Given the description of an element on the screen output the (x, y) to click on. 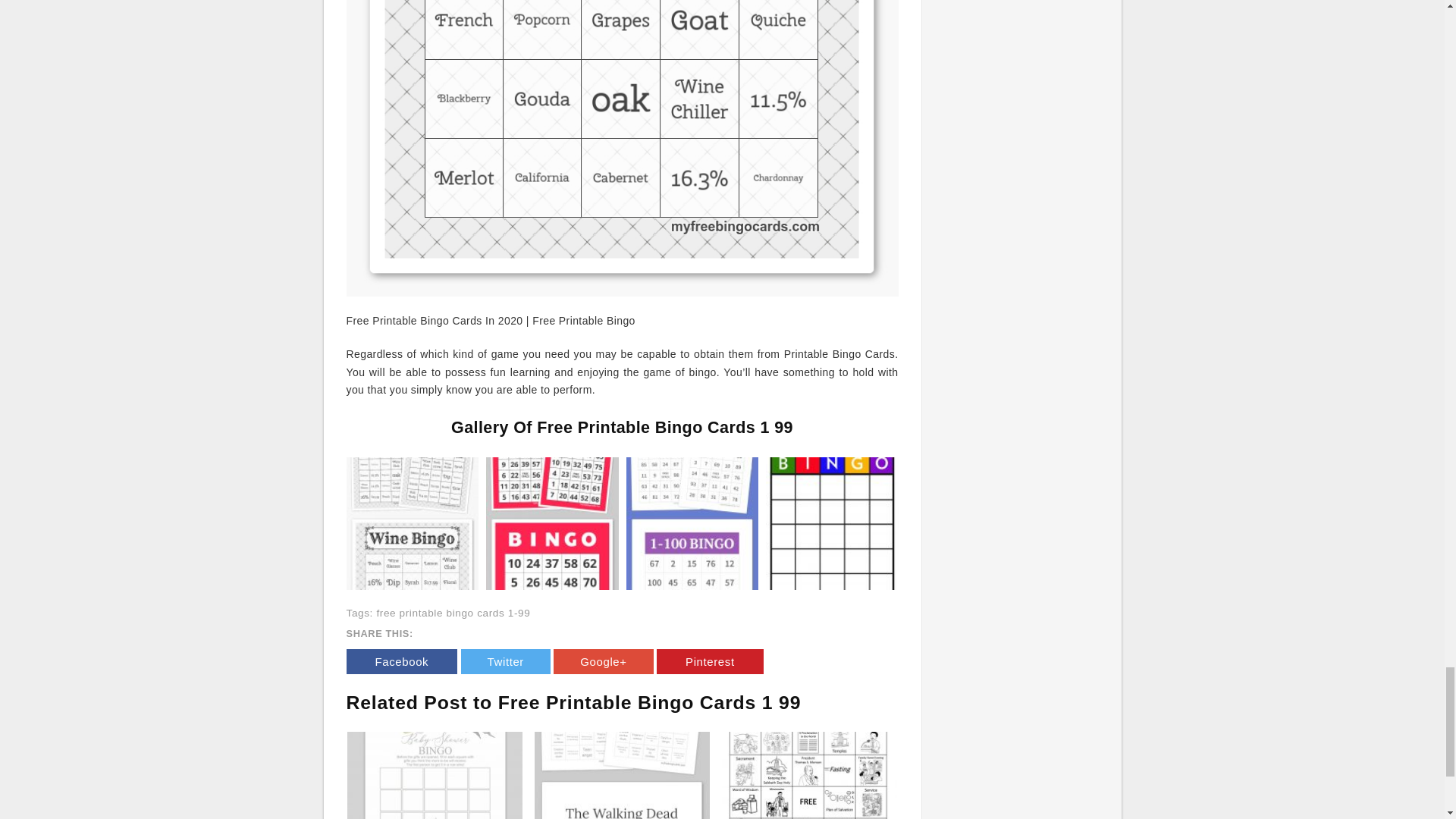
Facebook (401, 661)
Twitter (505, 661)
Free Printable Religious Bingo Cards (809, 775)
Pic of A Printable Wolf Bingo With Cards (622, 775)
Pinterest (709, 661)
free printable bingo cards 1-99 (452, 613)
Gift Bingo Printable Cards (434, 775)
